Given the description of an element on the screen output the (x, y) to click on. 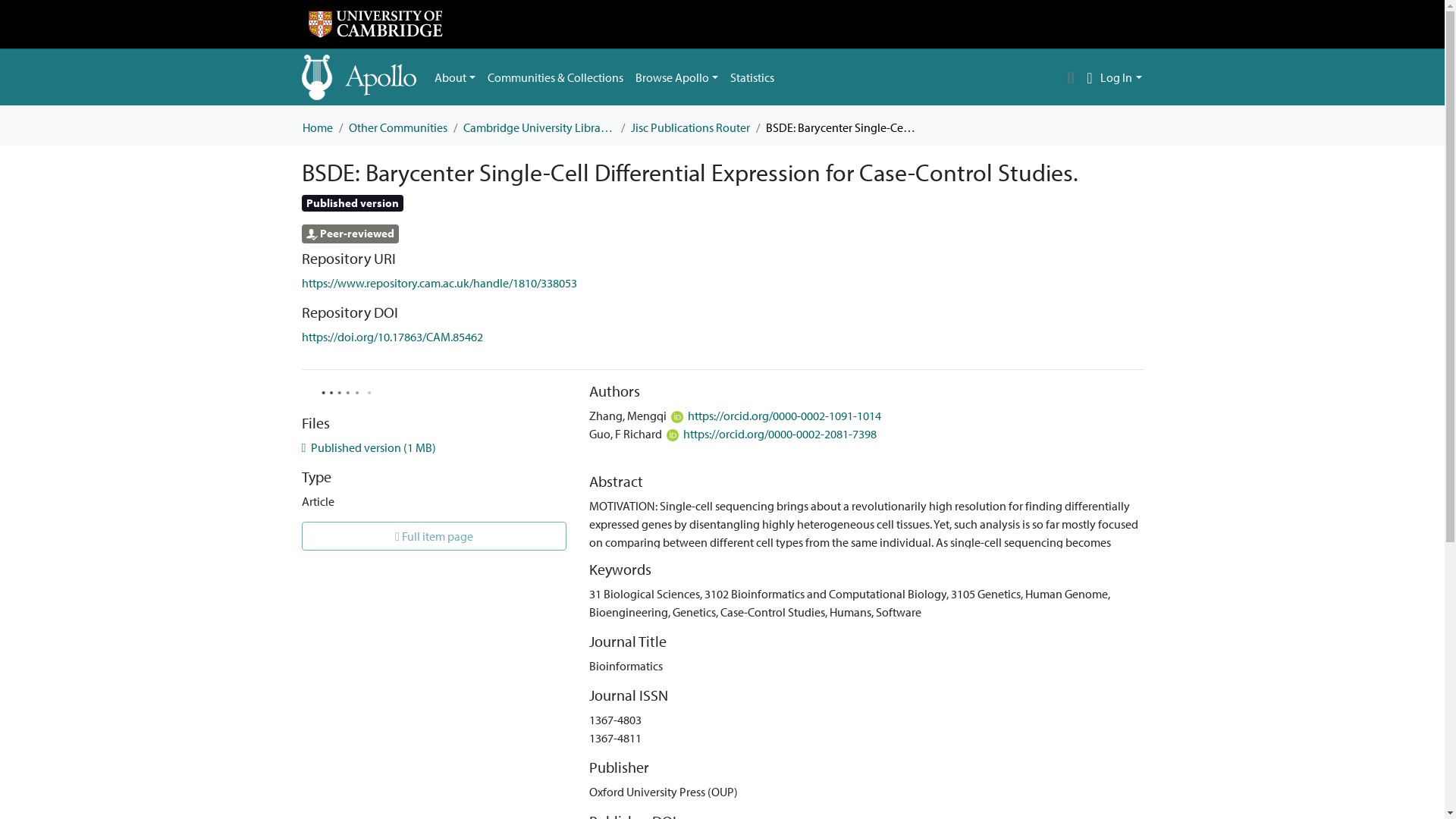
Home (316, 126)
Statistics (751, 77)
Other Communities (397, 126)
Browse Apollo (675, 77)
Log In (1120, 77)
Statistics (751, 77)
Language switch (1089, 76)
Full item page (434, 535)
Cambridge University Libraries (538, 126)
Search (1070, 76)
About (454, 77)
Jisc Publications Router (689, 126)
